Given the description of an element on the screen output the (x, y) to click on. 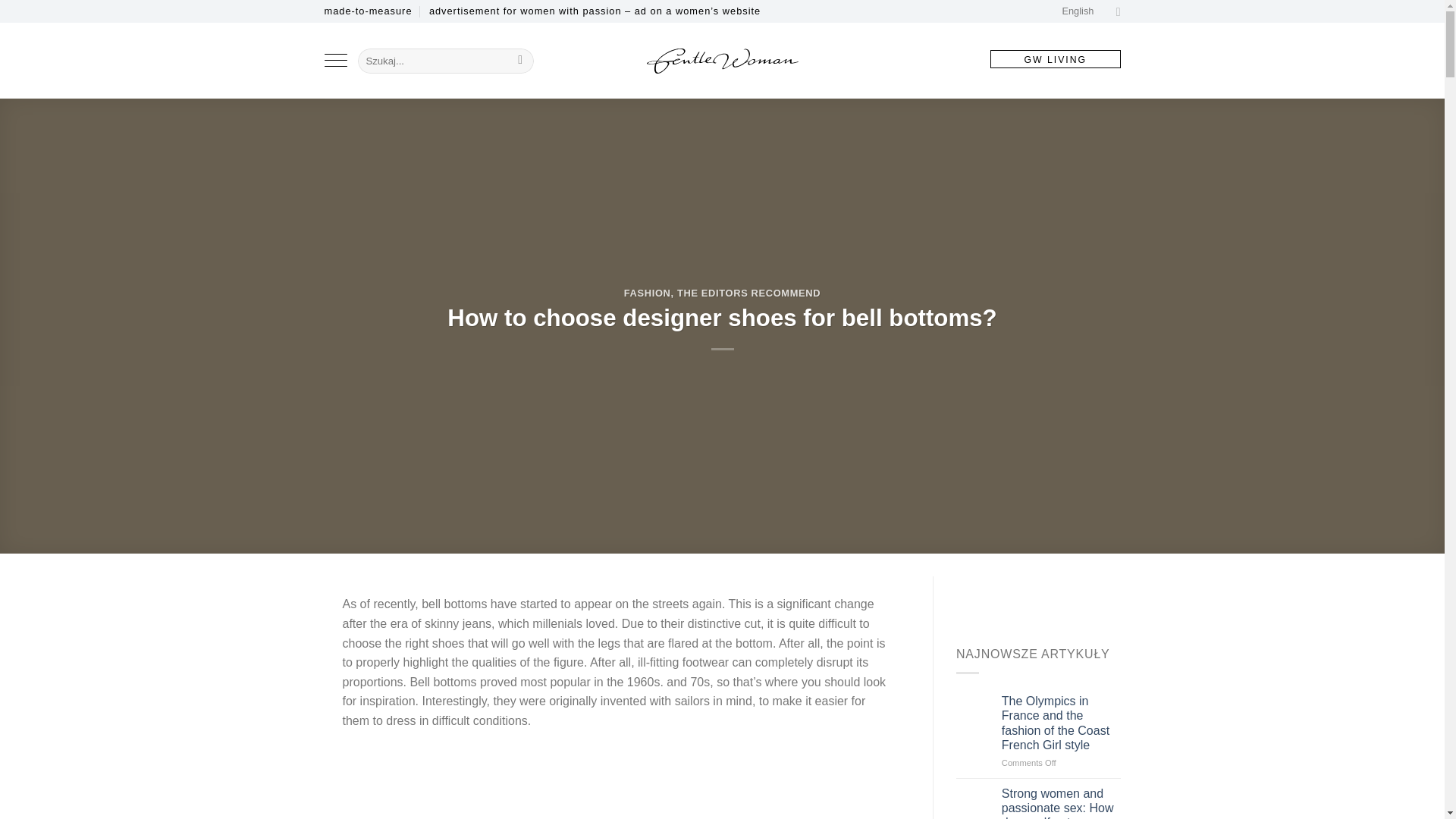
English (1090, 11)
made-to-measure (368, 11)
THE EDITORS RECOMMEND (749, 292)
FASHION (647, 292)
